Given the description of an element on the screen output the (x, y) to click on. 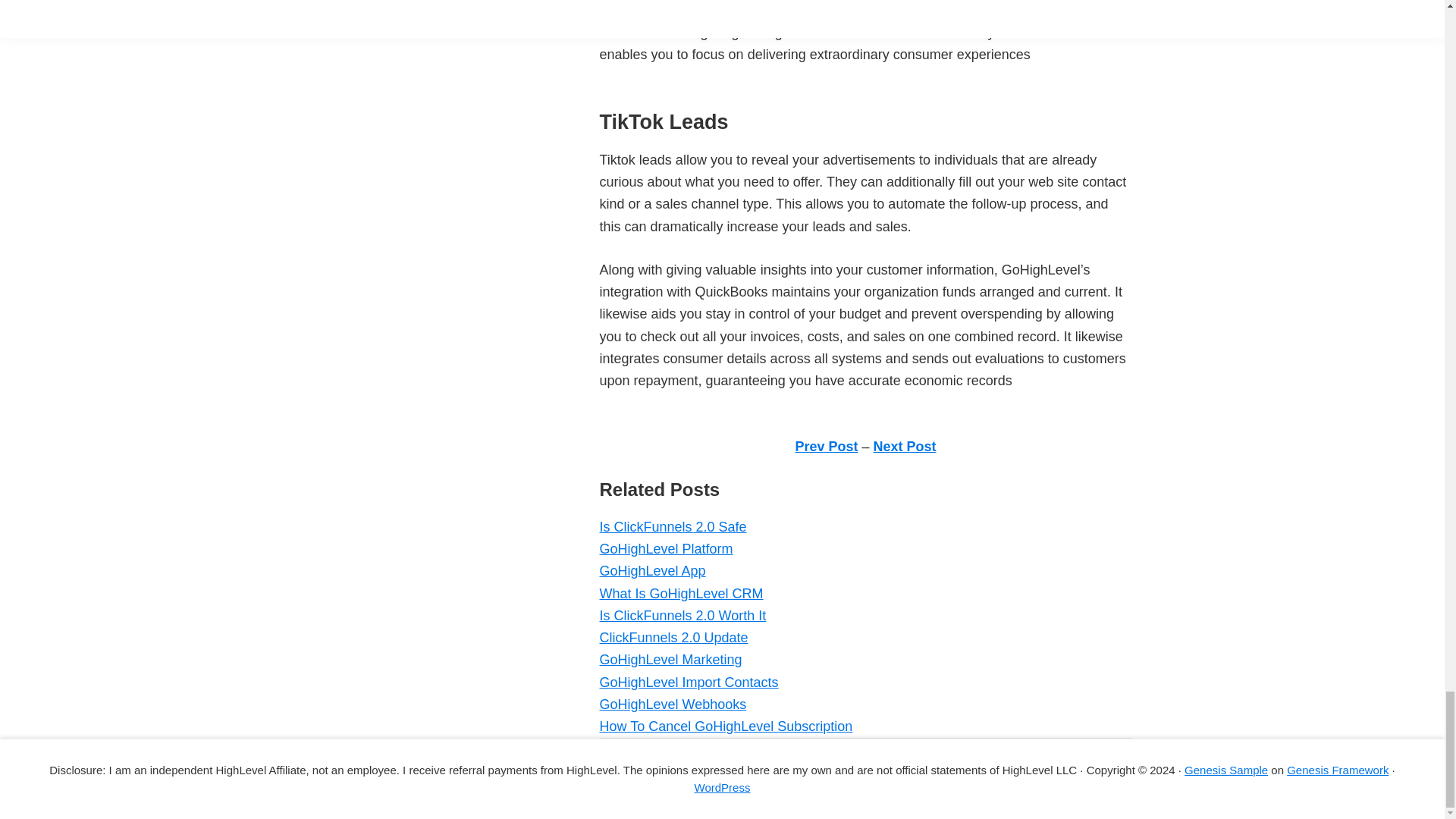
GoHighLevel Marketing (669, 659)
How To Cancel GoHighLevel Subscription (724, 726)
ClickFunnels 2.0 Update (673, 637)
GoHighLevel Platform (665, 548)
What Is GoHighLevel CRM (680, 593)
GoHighLevel Marketing (669, 659)
GoHighLevel Webhooks (671, 703)
How To Cancel GoHighLevel Subscription (724, 726)
GoHighLevel App (651, 570)
What Is GoHighLevel CRM (680, 593)
